Given the description of an element on the screen output the (x, y) to click on. 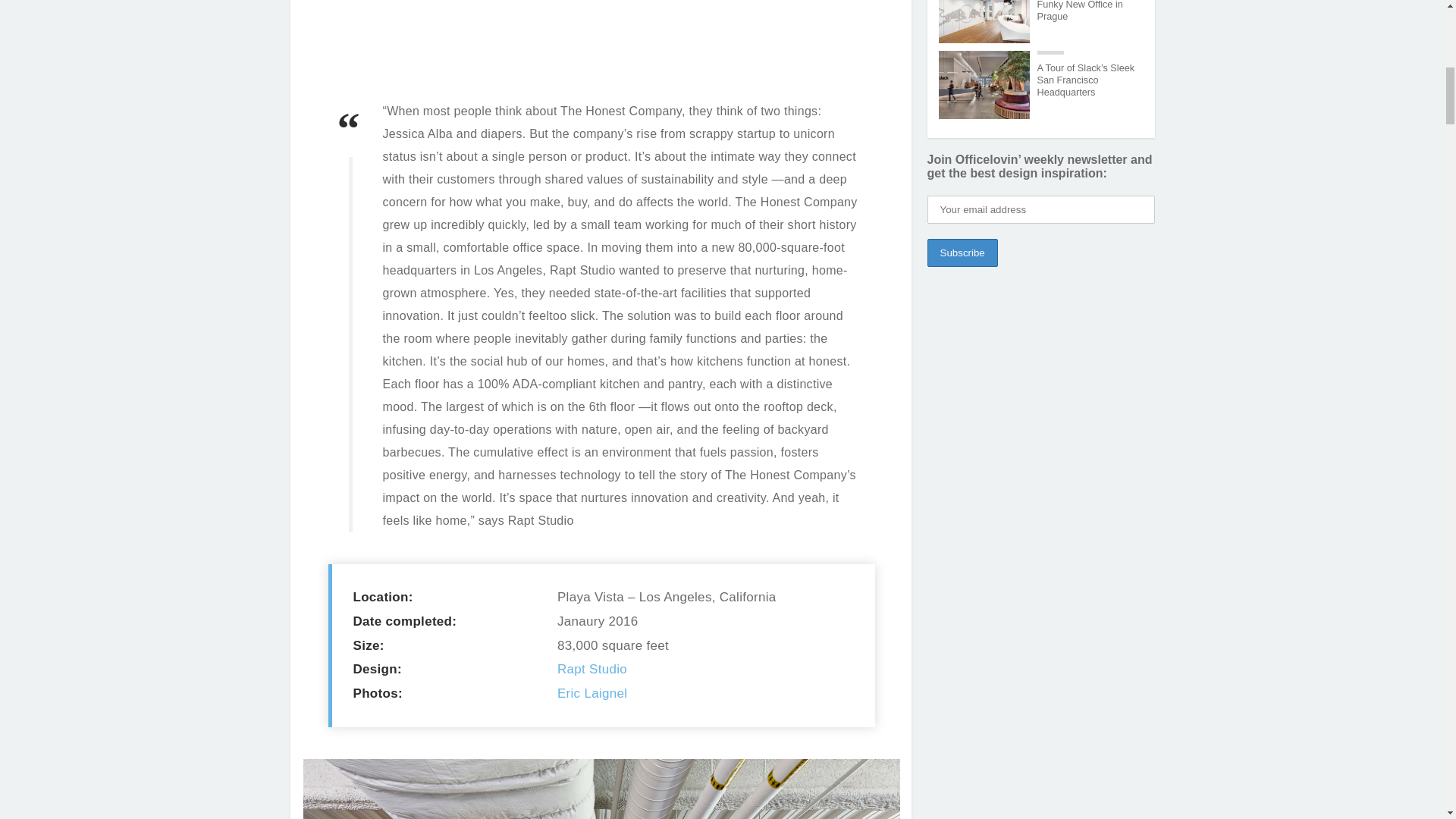
Subscribe (961, 252)
Lobby (601, 789)
